Given the description of an element on the screen output the (x, y) to click on. 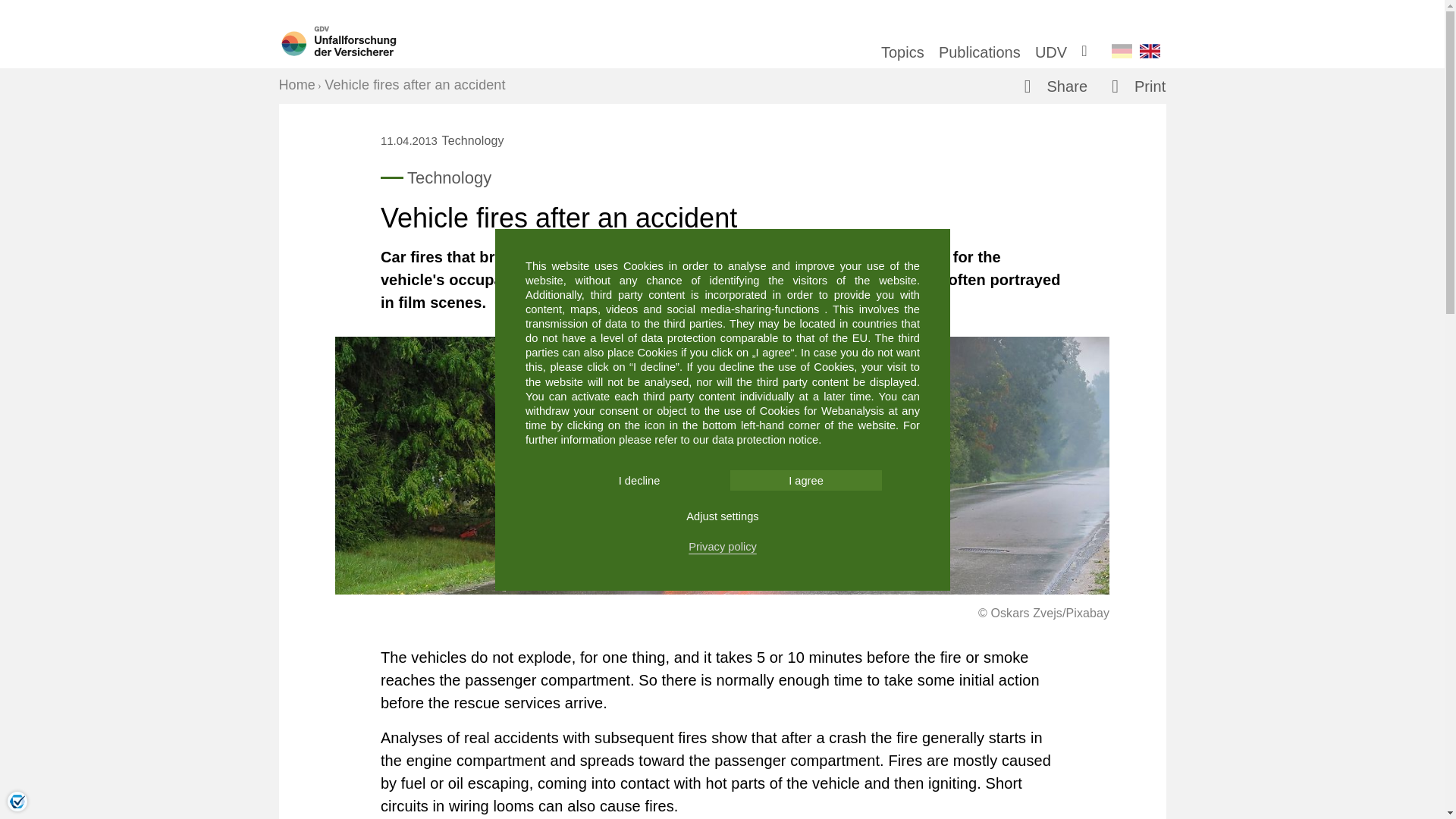
Deutschland (1121, 51)
Publications (979, 51)
Technology (472, 140)
Adjust settings (721, 516)
I decline (638, 480)
I agree (804, 480)
Topics (902, 51)
Privacy policy (722, 546)
Privacy settings (17, 801)
UDV (1050, 51)
